Given the description of an element on the screen output the (x, y) to click on. 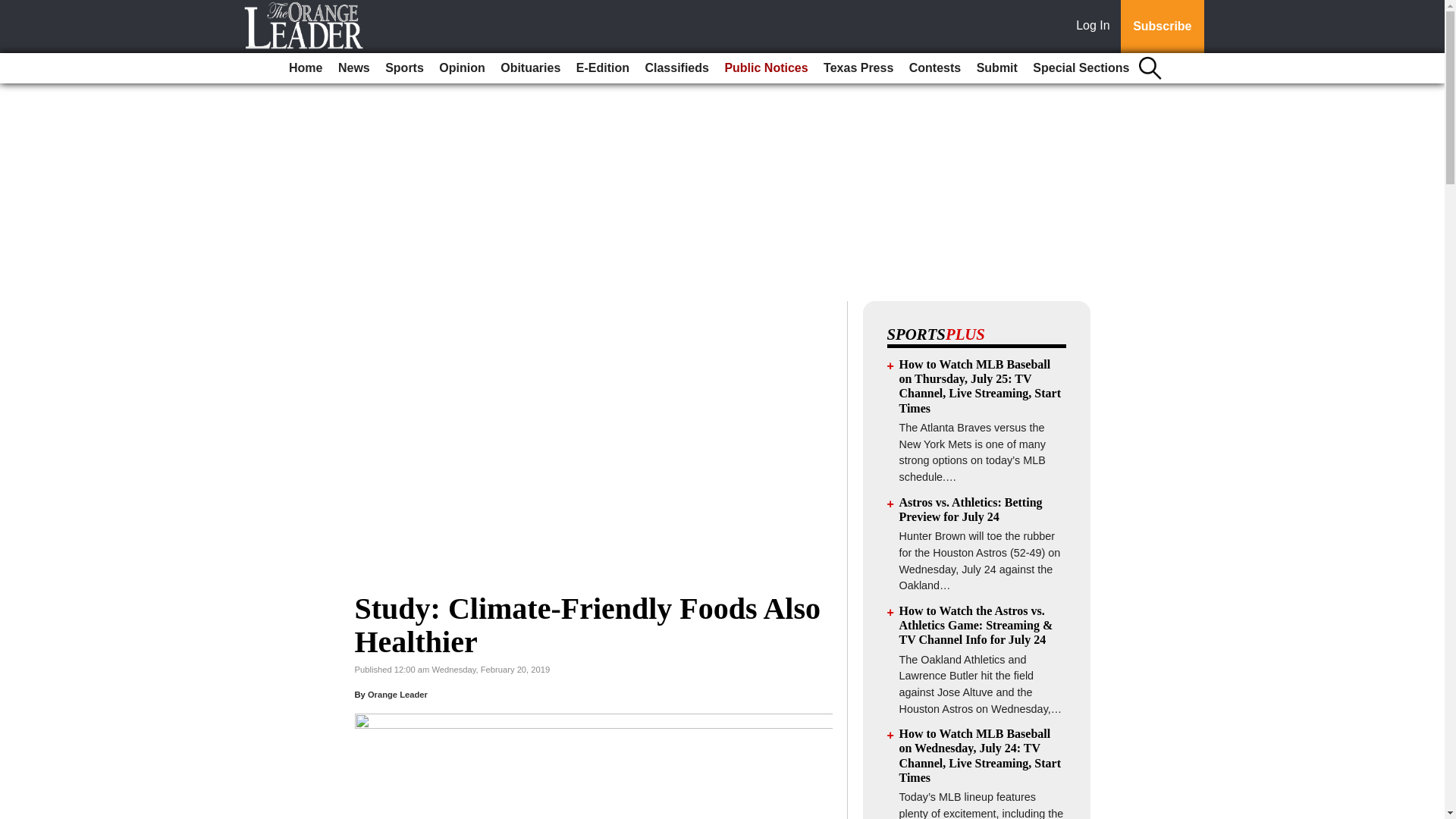
Submit (997, 68)
E-Edition (602, 68)
Sports (403, 68)
Obituaries (530, 68)
Home (305, 68)
Opinion (461, 68)
Special Sections (1080, 68)
News (353, 68)
Contests (934, 68)
Go (13, 9)
Astros vs. Athletics: Betting Preview for July 24 (970, 509)
Texas Press (857, 68)
Classifieds (676, 68)
Orange Leader (398, 694)
